Given the description of an element on the screen output the (x, y) to click on. 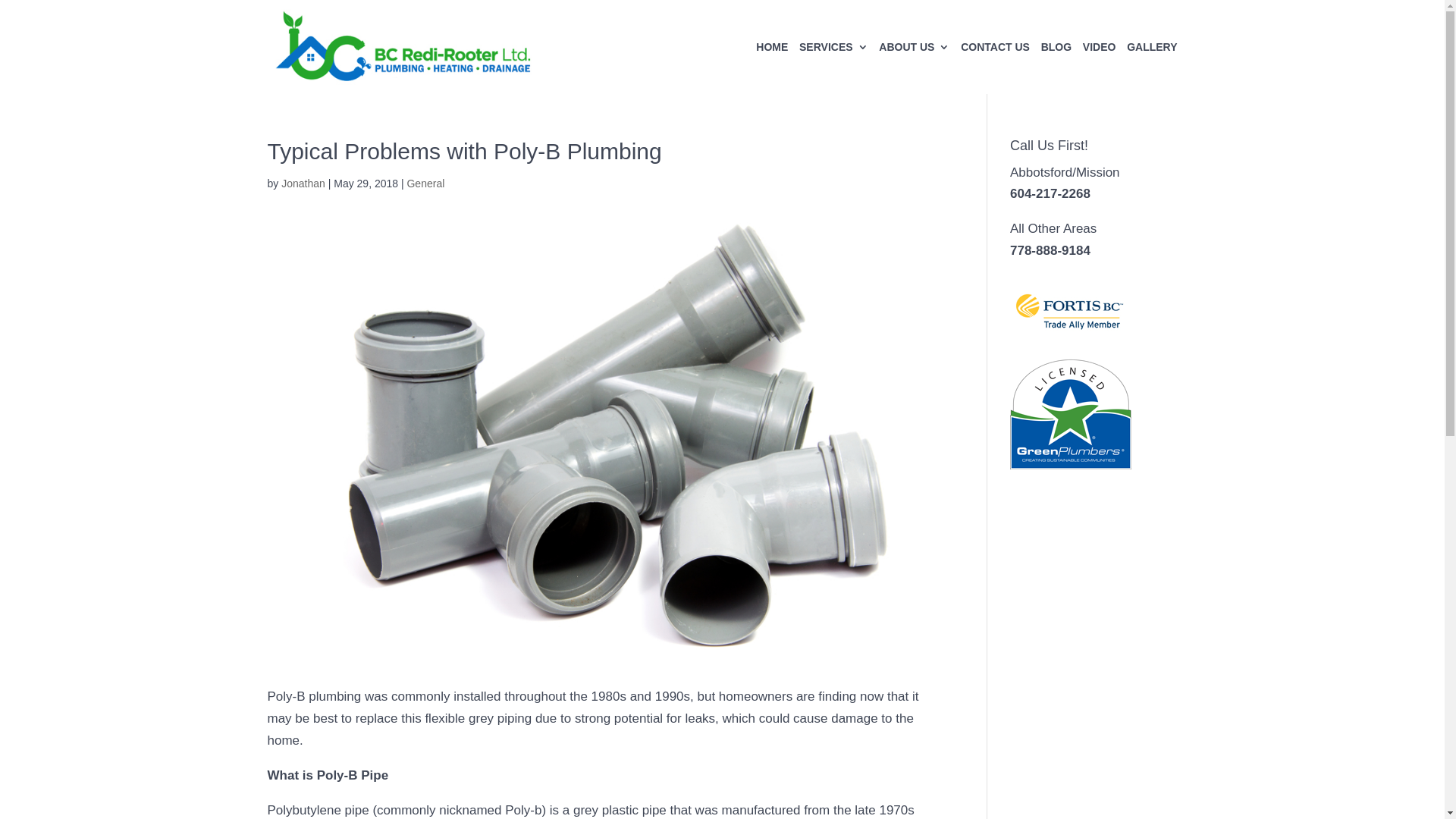
VIDEO Element type: text (1099, 67)
HOME Element type: text (771, 67)
BLOG Element type: text (1056, 67)
CONTACT US Element type: text (994, 67)
General Element type: text (425, 183)
ABOUT US Element type: text (913, 67)
Jonathan Element type: text (303, 183)
SERVICES Element type: text (833, 67)
GALLERY Element type: text (1151, 67)
